Given the description of an element on the screen output the (x, y) to click on. 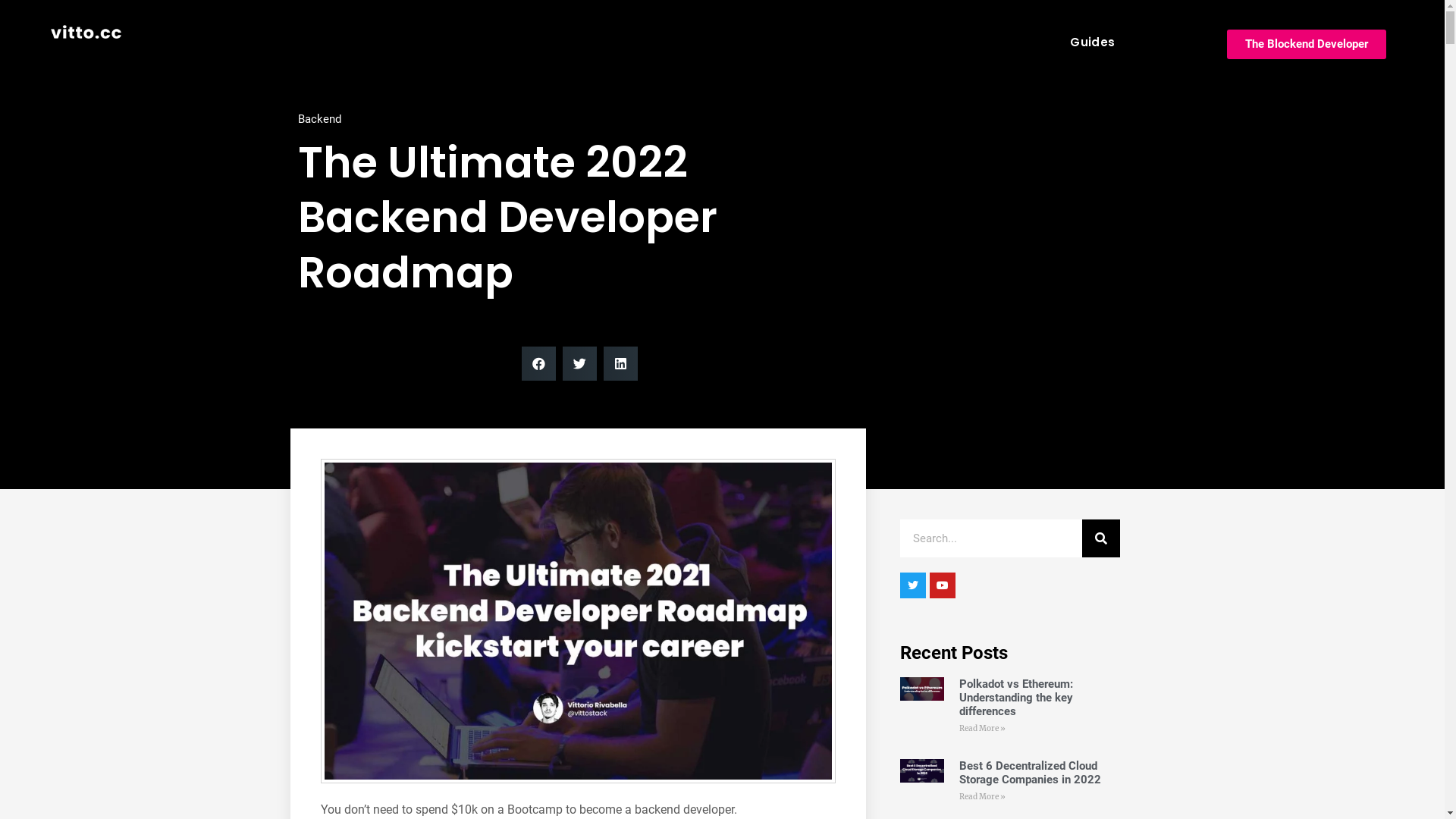
Guides Element type: text (1092, 42)
Polkadot vs Ethereum: Understanding the key differences Element type: text (1016, 697)
The Blockend Developer Element type: text (1306, 44)
Best 6 Decentralized Cloud Storage Companies in 2022 Element type: text (1030, 772)
Search Element type: hover (991, 538)
Backend Element type: text (318, 118)
Search Element type: hover (1101, 538)
